Given the description of an element on the screen output the (x, y) to click on. 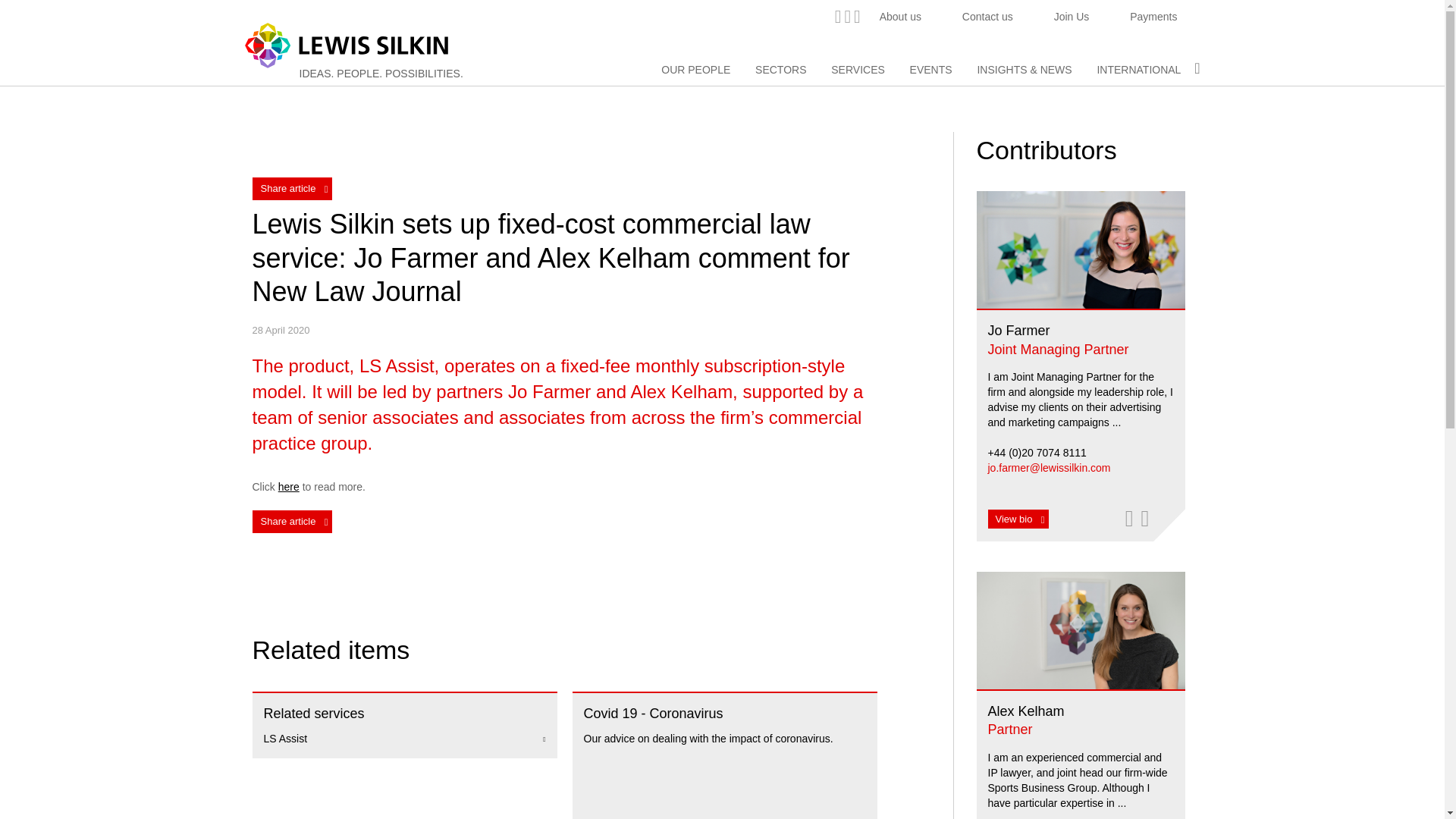
Join Us (1071, 16)
SERVICES (858, 69)
Payments (1153, 16)
IDEAS. PEOPLE. POSSIBILITIES. (380, 73)
OUR PEOPLE (695, 69)
About us (900, 16)
Contact us (987, 16)
SECTORS (780, 69)
